Given the description of an element on the screen output the (x, y) to click on. 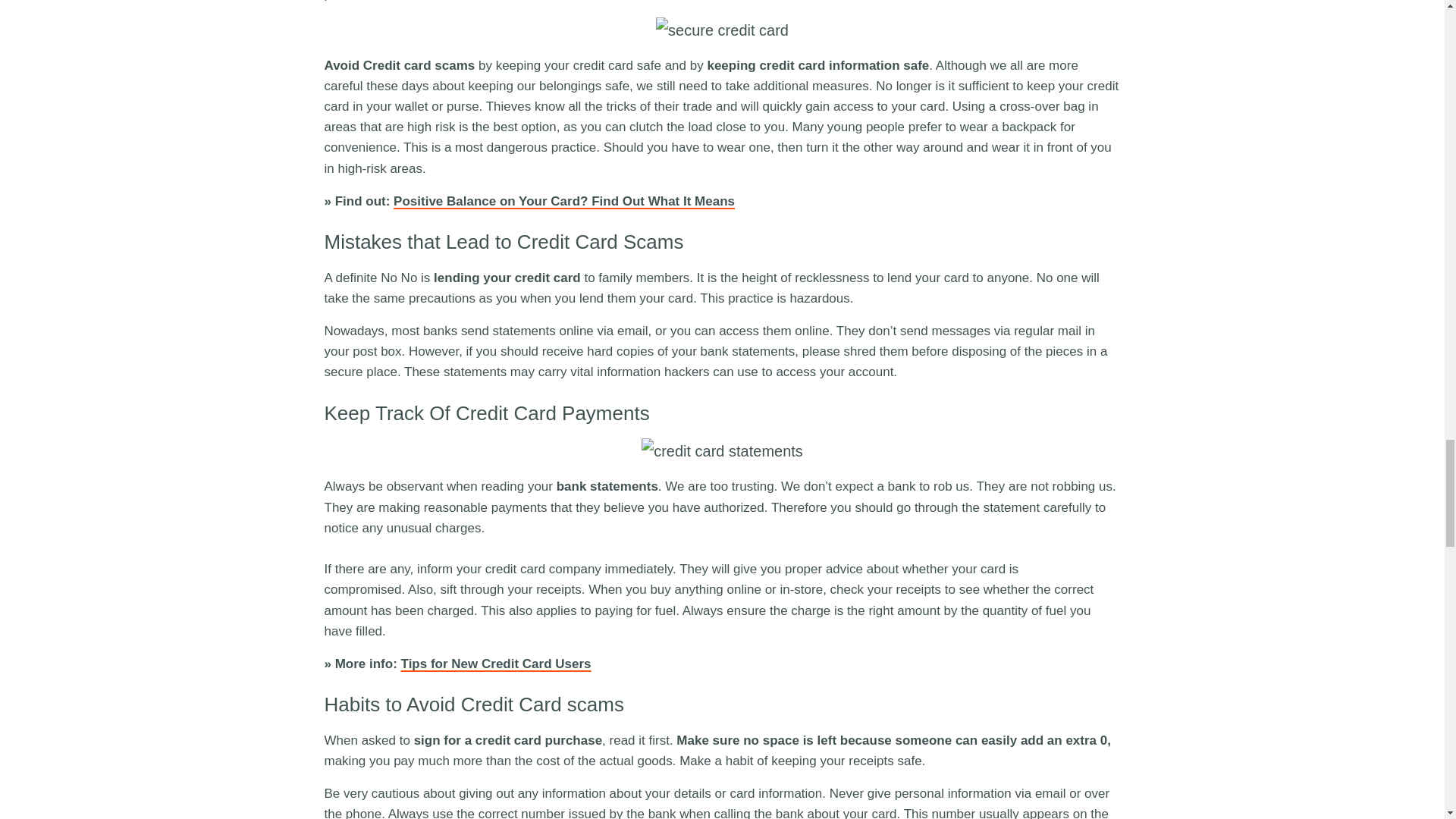
Positive Balance on Your Card? Find Out What It Means (564, 201)
Tips for New Credit Card Users (496, 663)
